Given the description of an element on the screen output the (x, y) to click on. 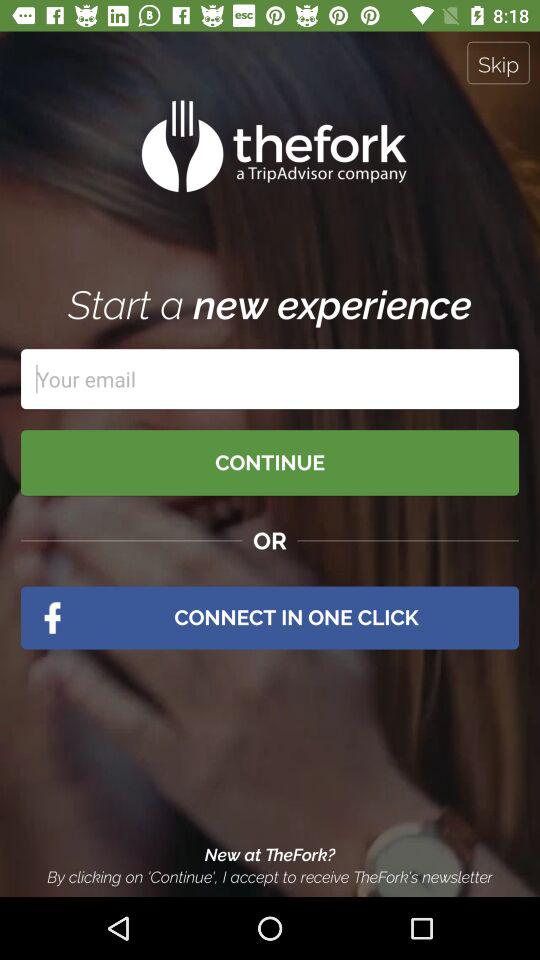
enter email id (270, 379)
